Given the description of an element on the screen output the (x, y) to click on. 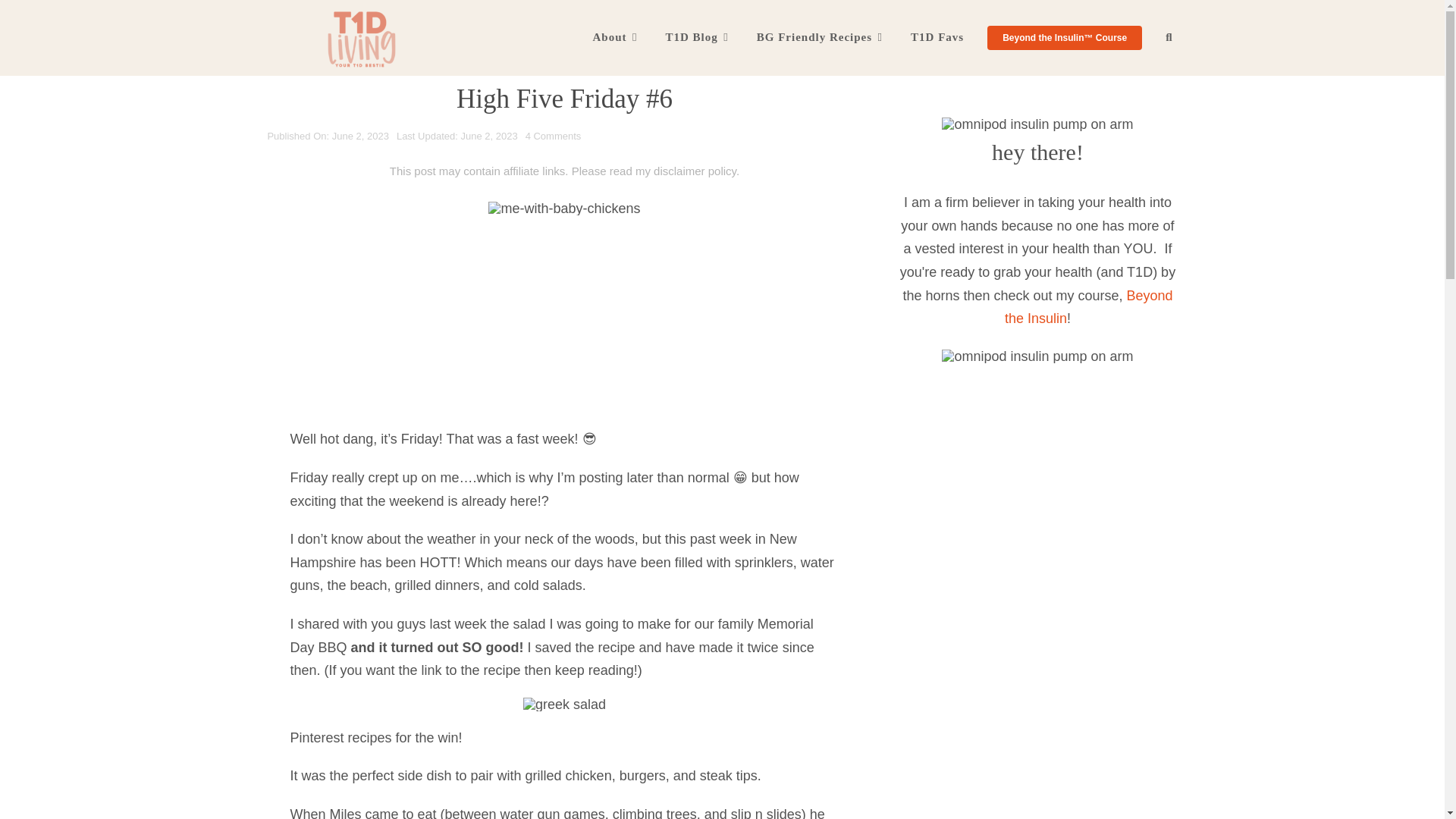
T1D Blog (697, 37)
BG Friendly Recipes (819, 37)
disclaimer policy (694, 170)
greek salad (563, 704)
t1d living rachel profile (1037, 124)
me-with-baby-chickens (563, 208)
About (615, 37)
4 Comments (552, 135)
heart (1037, 356)
Beyond the Insulin (1088, 307)
